Given the description of an element on the screen output the (x, y) to click on. 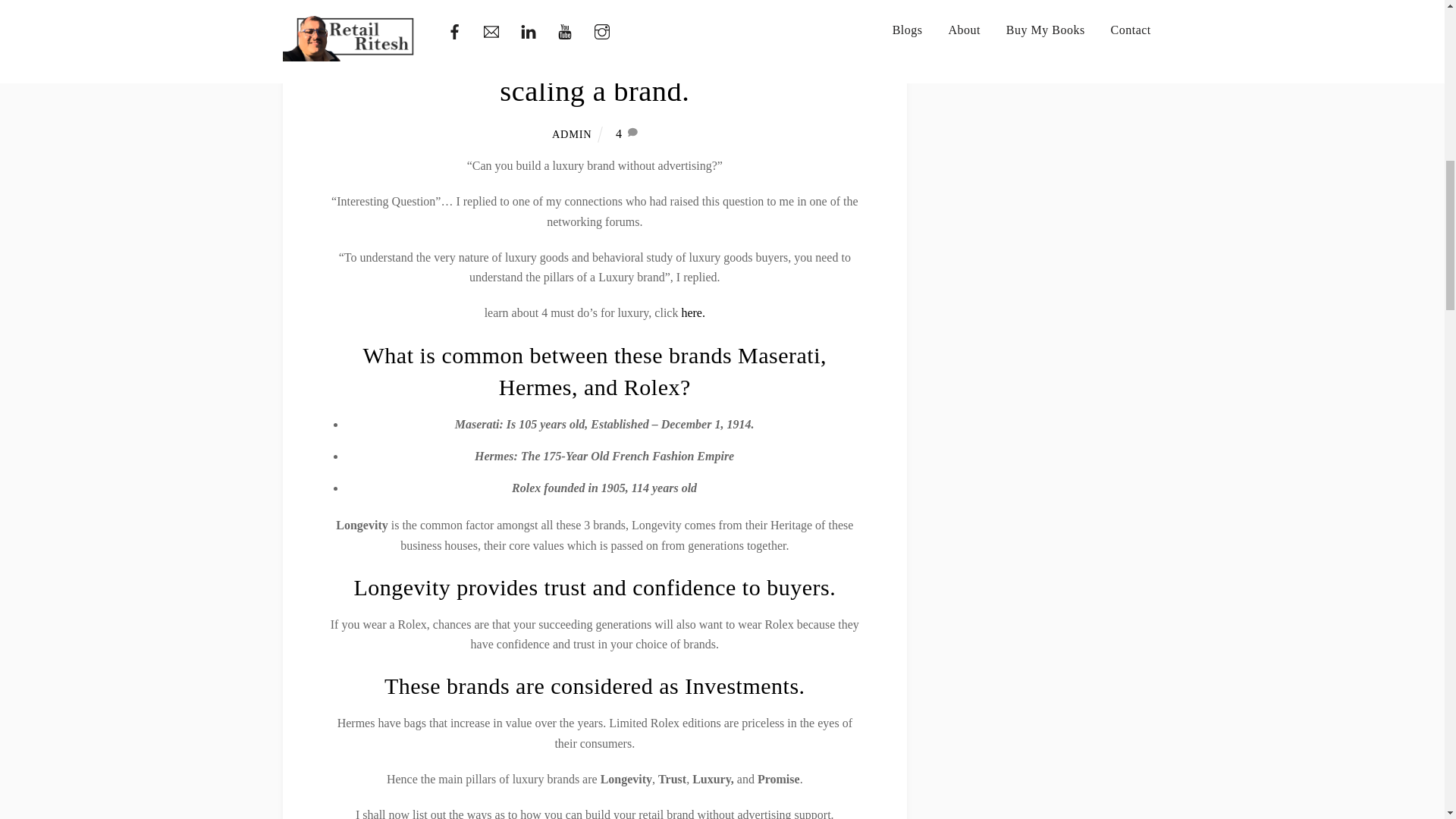
ADMIN (571, 133)
here. (691, 312)
